Given the description of an element on the screen output the (x, y) to click on. 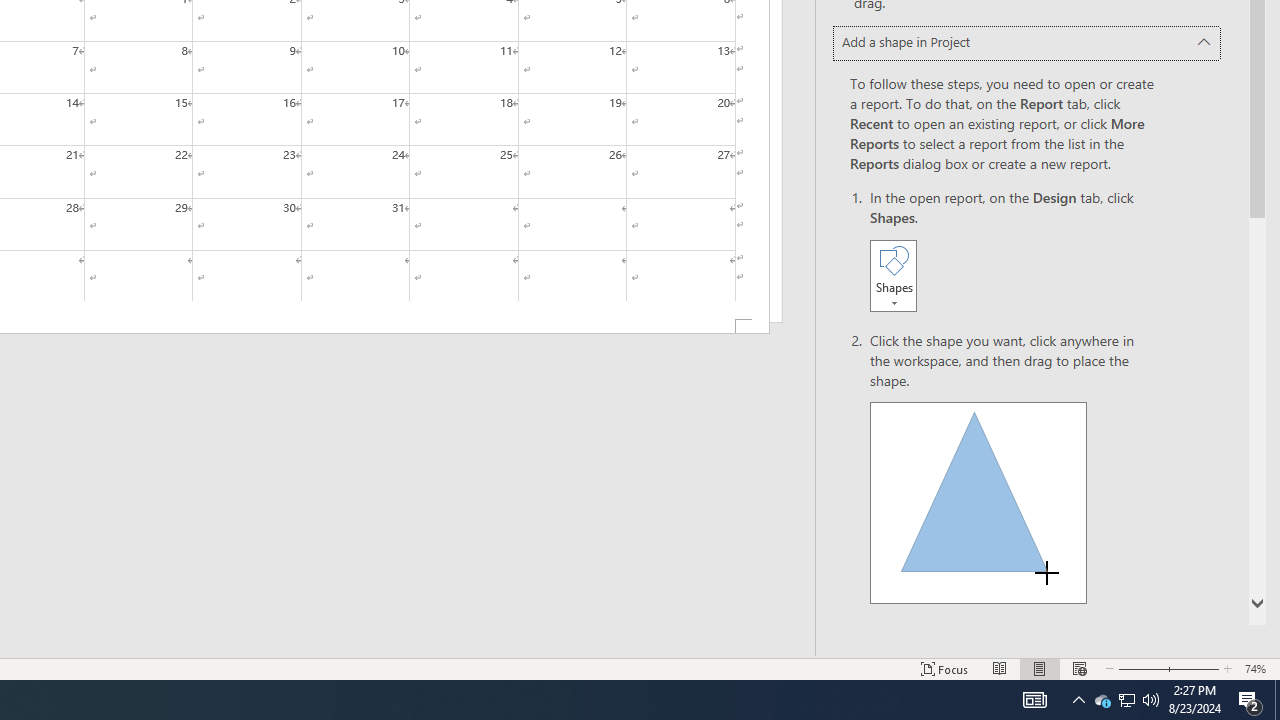
Drawing a shape (978, 502)
Add a shape in Project (1026, 43)
Insert Shapes button (893, 275)
In the open report, on the Design tab, click Shapes. (1012, 251)
